Given the description of an element on the screen output the (x, y) to click on. 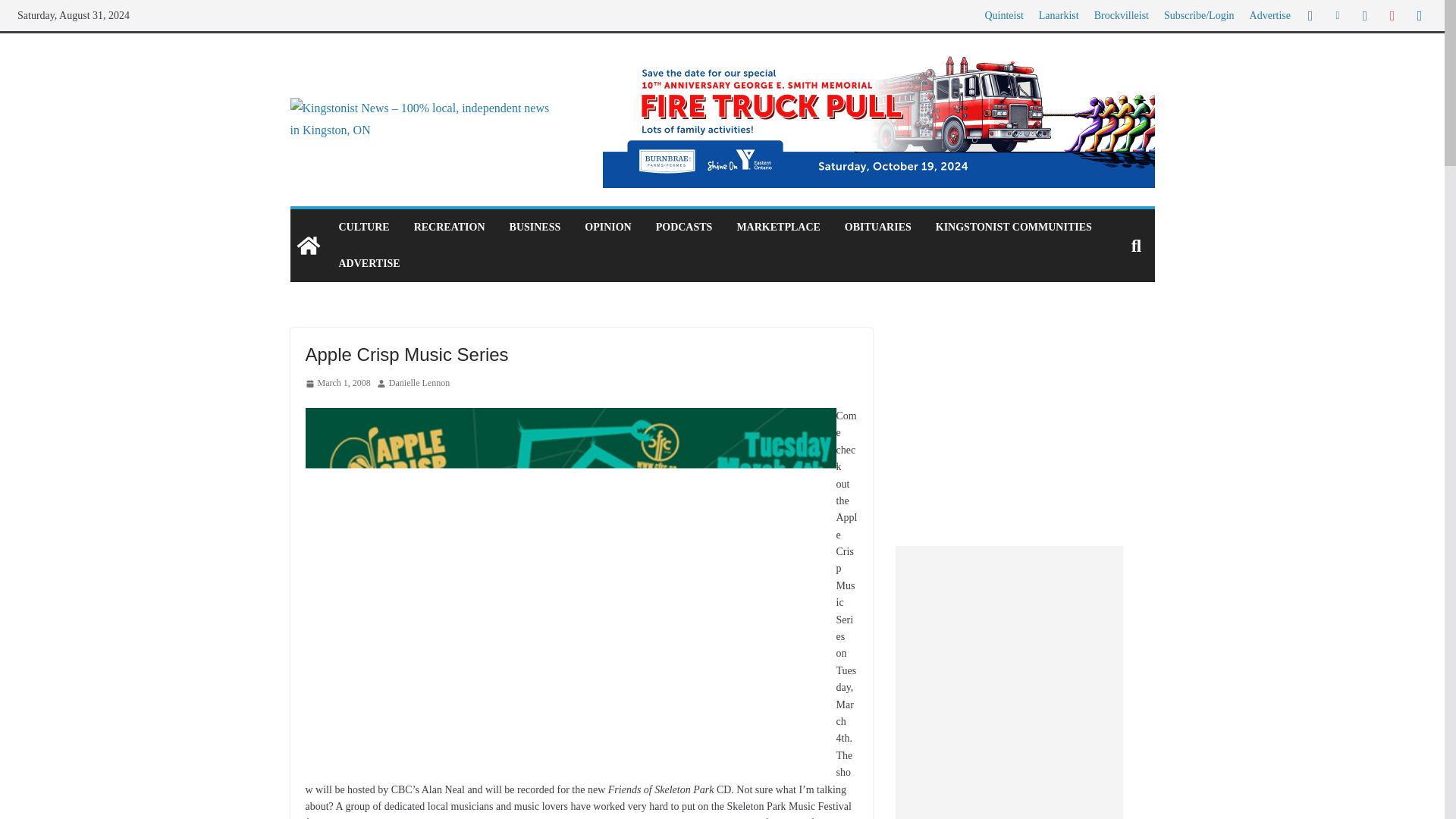
OPINION (607, 227)
KINGSTONIST COMMUNITIES (1014, 227)
RECREATION (448, 227)
McBurney Park (459, 818)
Quinteist (1003, 15)
MARKETPLACE (777, 227)
12:43 am (336, 383)
ADVERTISE (367, 263)
Danielle Lennon (418, 383)
